Given the description of an element on the screen output the (x, y) to click on. 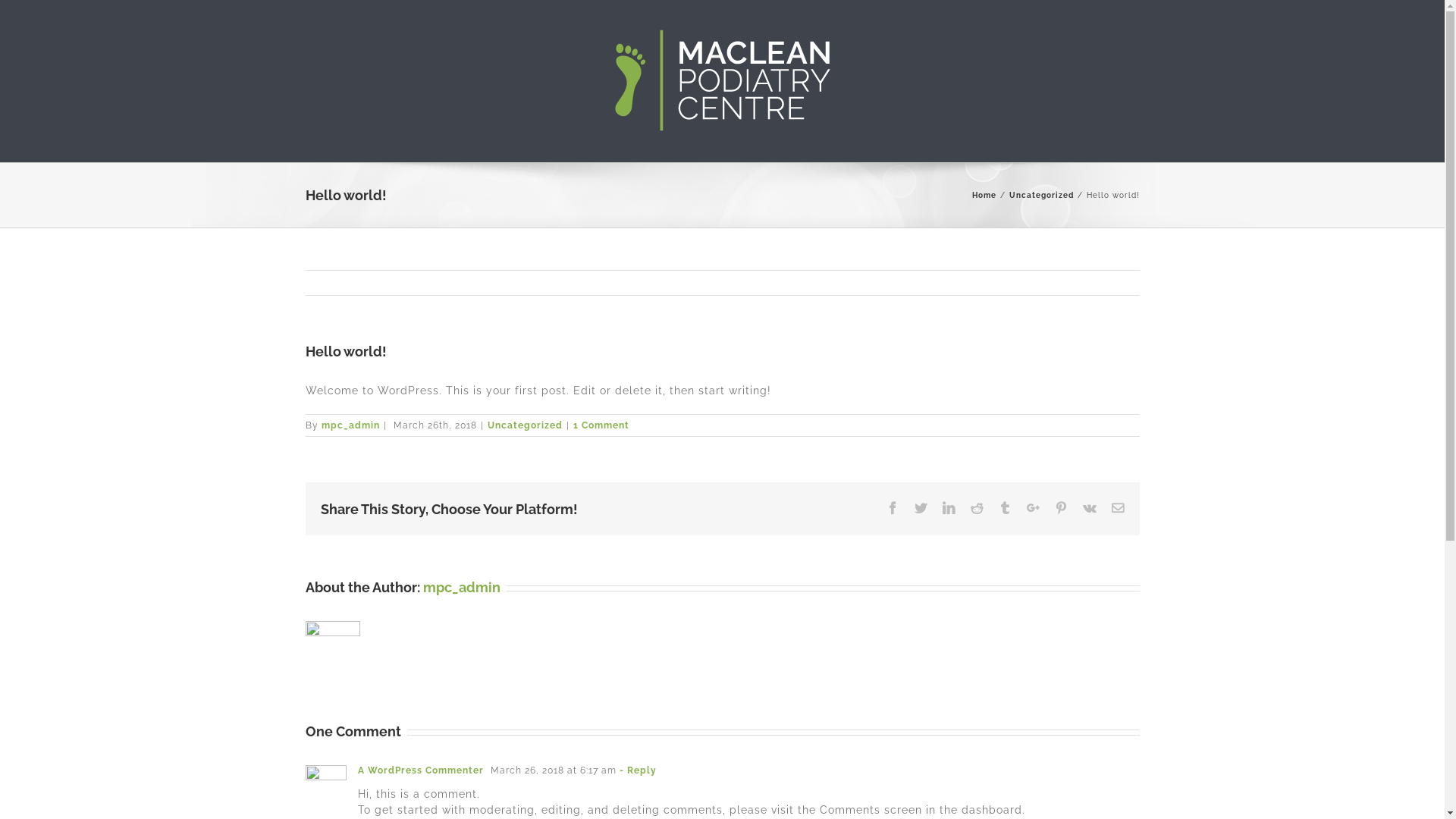
Uncategorized Element type: text (1040, 195)
Twitter Element type: text (920, 508)
Google+ Element type: text (1032, 508)
Vk Element type: text (1089, 508)
- Reply Element type: text (636, 770)
1 Comment Element type: text (601, 425)
Linkedin Element type: text (947, 508)
Facebook Element type: text (891, 508)
Pinterest Element type: text (1060, 508)
A WordPress Commenter Element type: text (420, 770)
Tumblr Element type: text (1003, 508)
Uncategorized Element type: text (523, 425)
Reddit Element type: text (976, 508)
mpc_admin Element type: text (461, 587)
Email Element type: text (1117, 508)
mpc_admin Element type: text (350, 425)
Home Element type: text (984, 195)
